Given the description of an element on the screen output the (x, y) to click on. 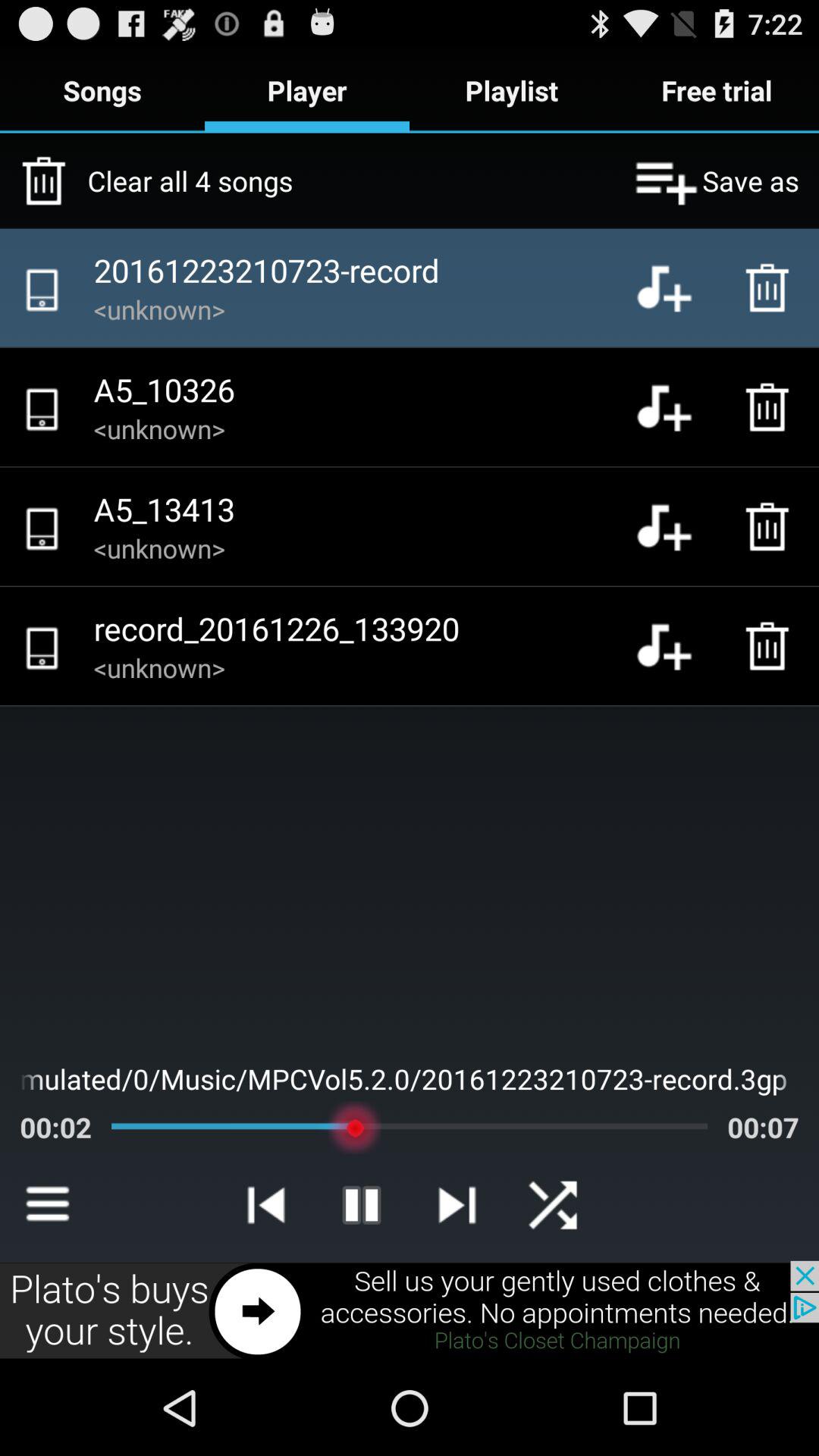
create sound (675, 526)
